Given the description of an element on the screen output the (x, y) to click on. 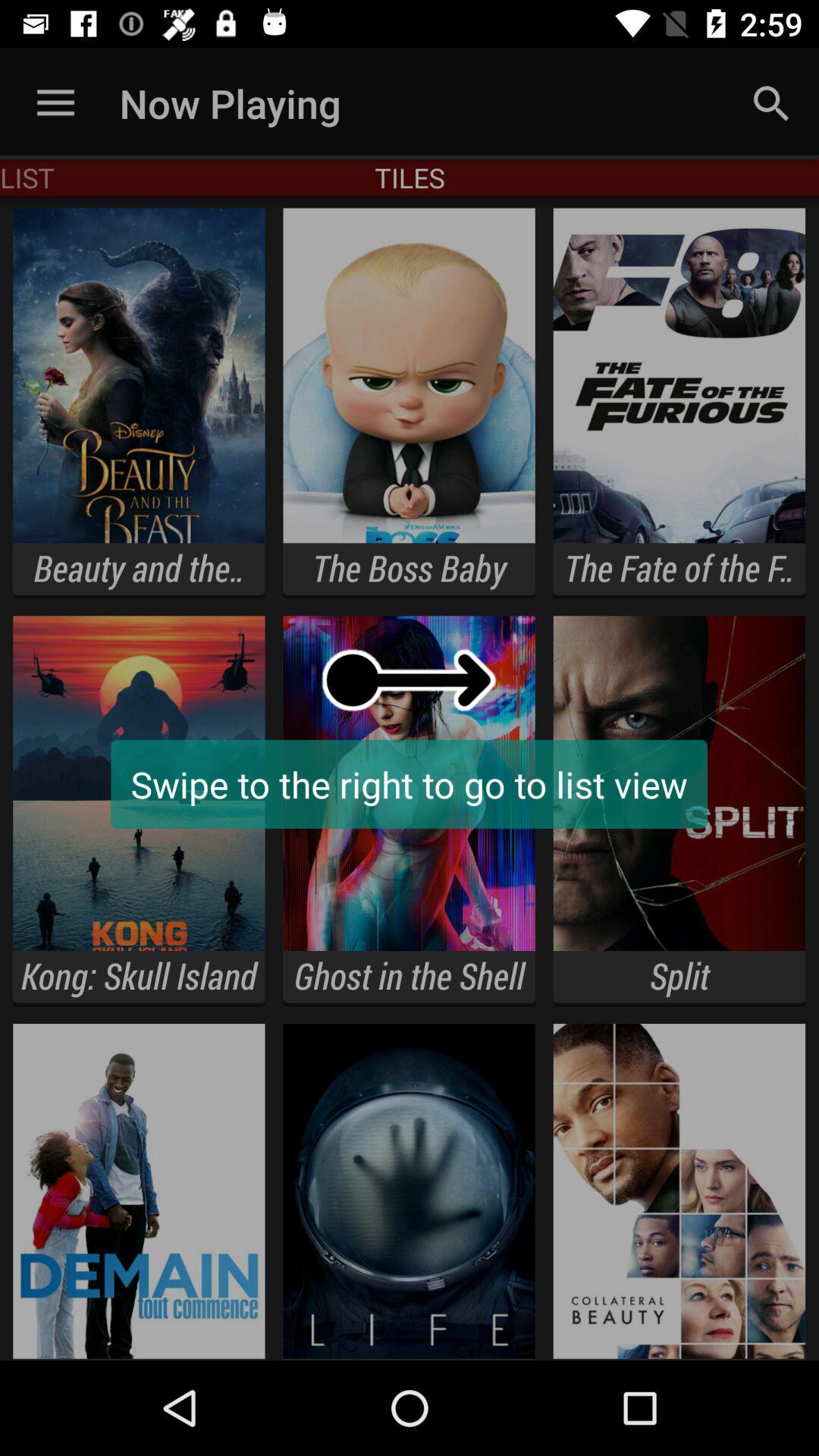
choose the item to the left of now playing (55, 103)
